Given the description of an element on the screen output the (x, y) to click on. 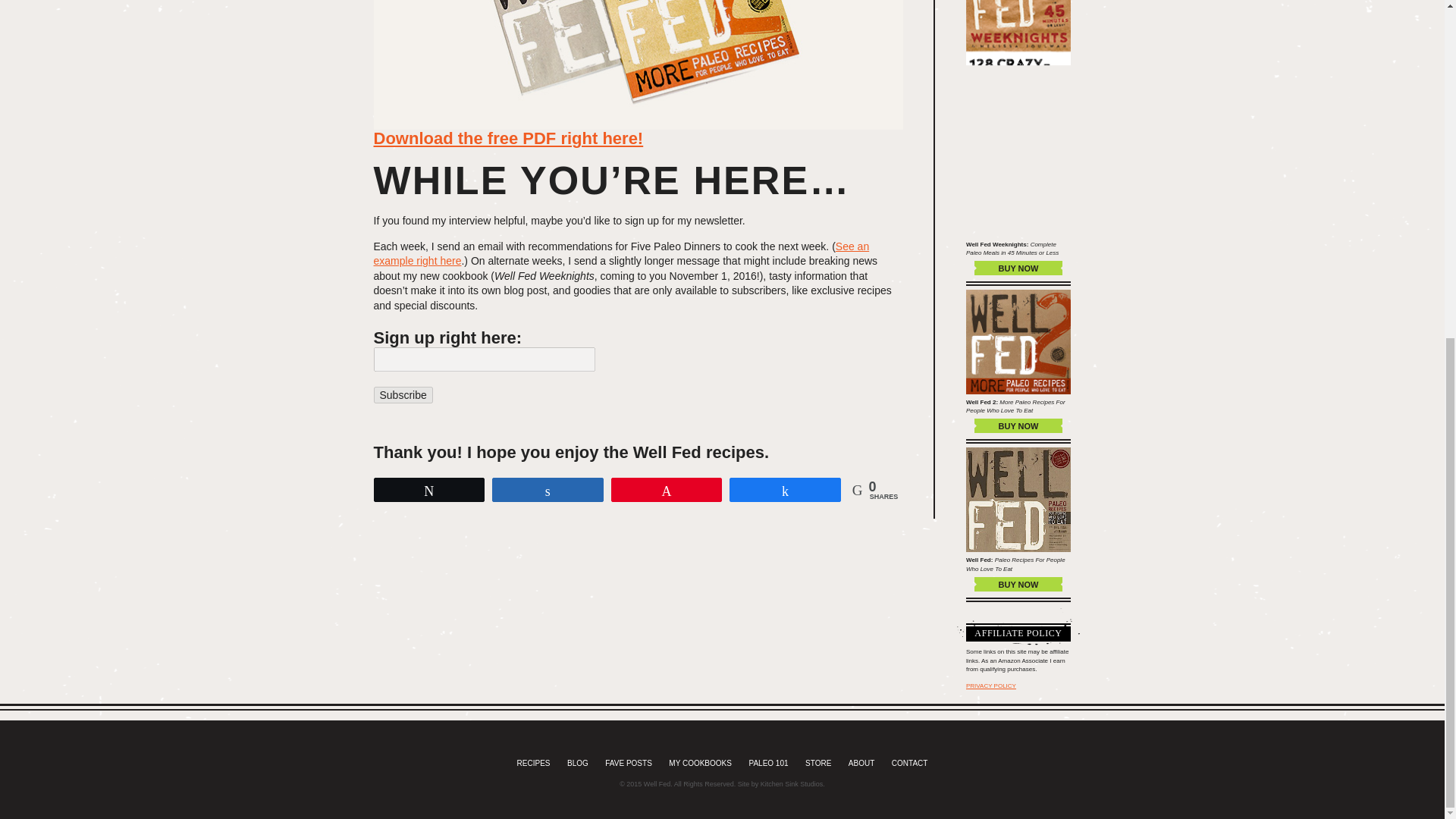
Subscribe (402, 394)
See an example right here (620, 253)
Download the free PDF right here! (507, 138)
Subscribe (402, 394)
